Given the description of an element on the screen output the (x, y) to click on. 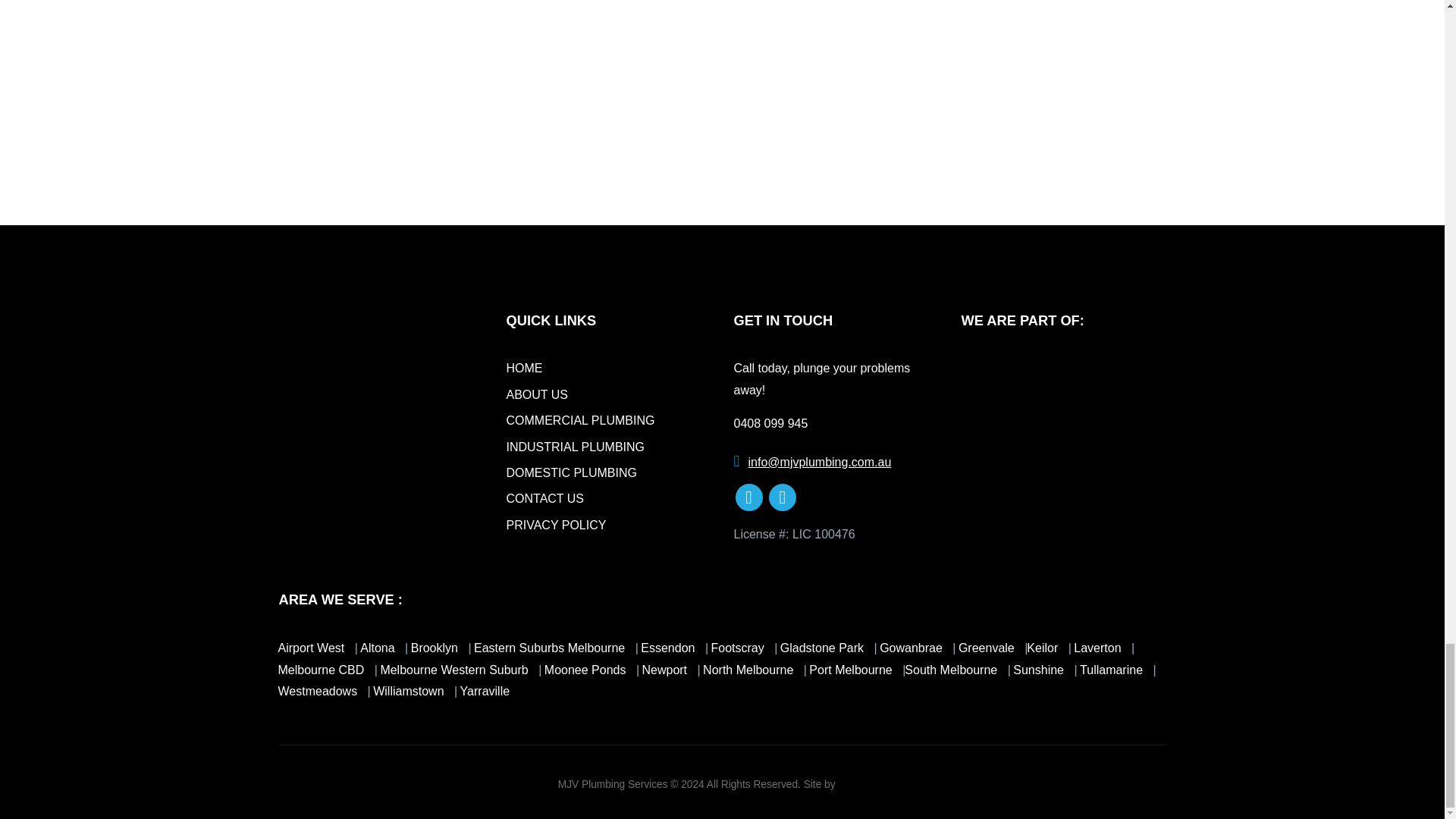
Facebook (782, 497)
LinkedIn (748, 497)
